Given the description of an element on the screen output the (x, y) to click on. 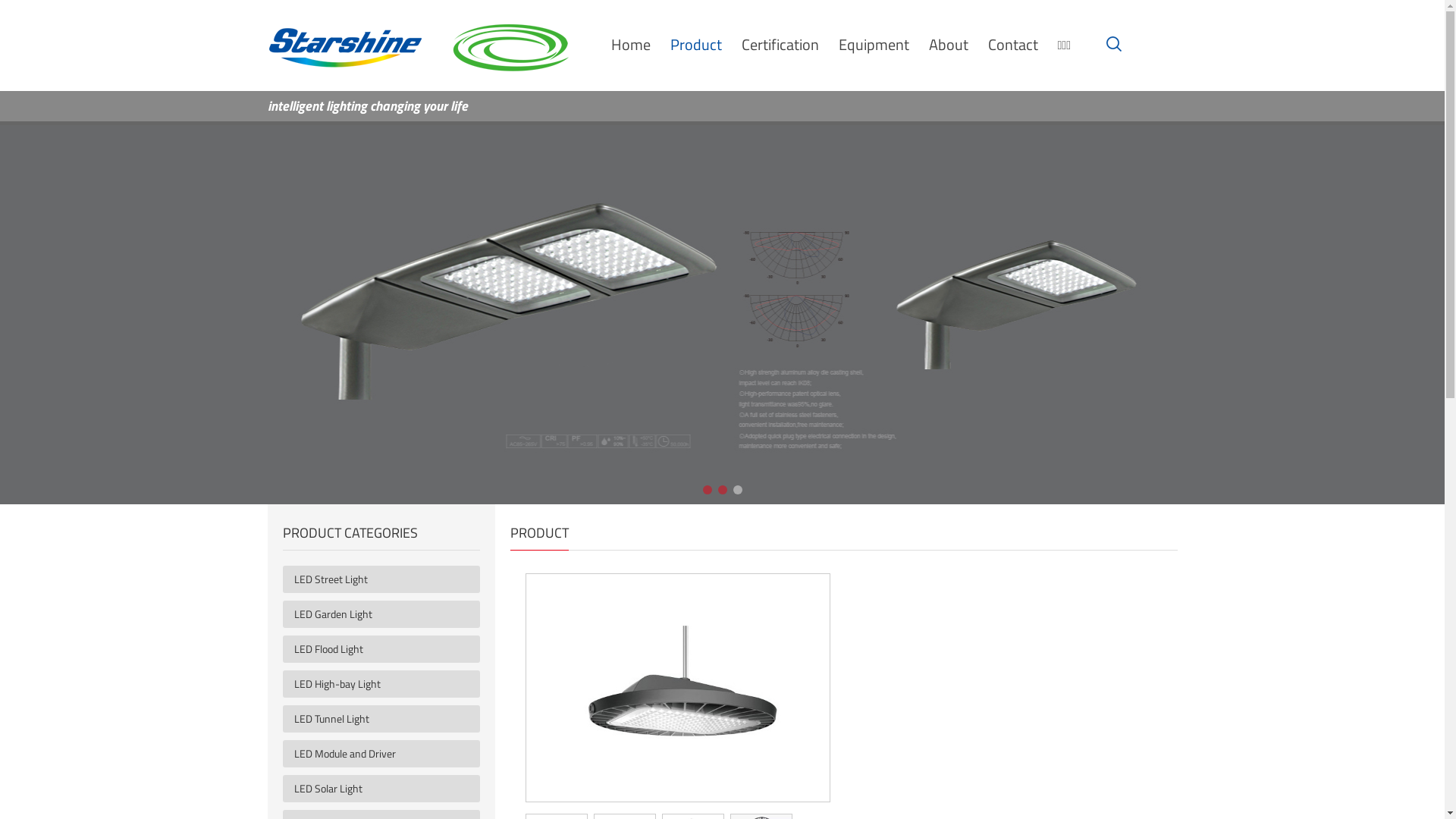
LED High-bay Light Element type: text (387, 683)
Equipment Element type: text (873, 44)
Contact Element type: text (1012, 44)
Home Element type: text (630, 44)
LED Garden Light Element type: text (387, 613)
LED Tunnel Light Element type: text (387, 718)
LED Module and Driver Element type: text (387, 753)
LED Solar Light Element type: text (387, 788)
LED Flood Light Element type: text (387, 648)
About Element type: text (947, 44)
LED Street Light Element type: text (387, 579)
Product Element type: text (695, 44)
Certification Element type: text (780, 44)
